Given the description of an element on the screen output the (x, y) to click on. 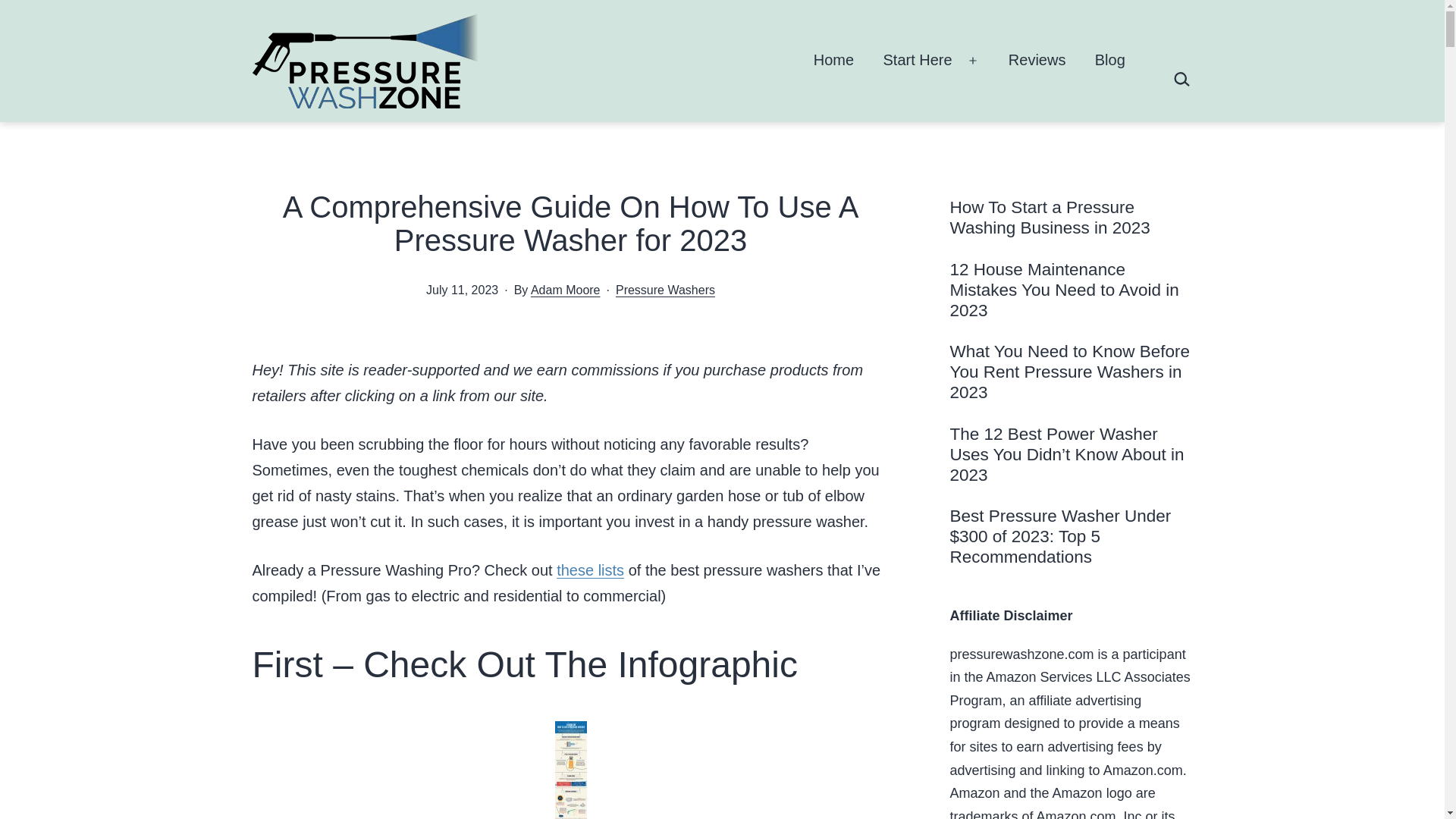
Reviews (1036, 60)
12 House Maintenance Mistakes You Need to Avoid in 2023 (1070, 290)
these lists (590, 569)
Pressure Washers (664, 289)
Adam Moore (565, 289)
Start Here (917, 60)
Home (833, 60)
Blog (1109, 60)
How To Start a Pressure Washing Business in 2023 (1070, 217)
